Given the description of an element on the screen output the (x, y) to click on. 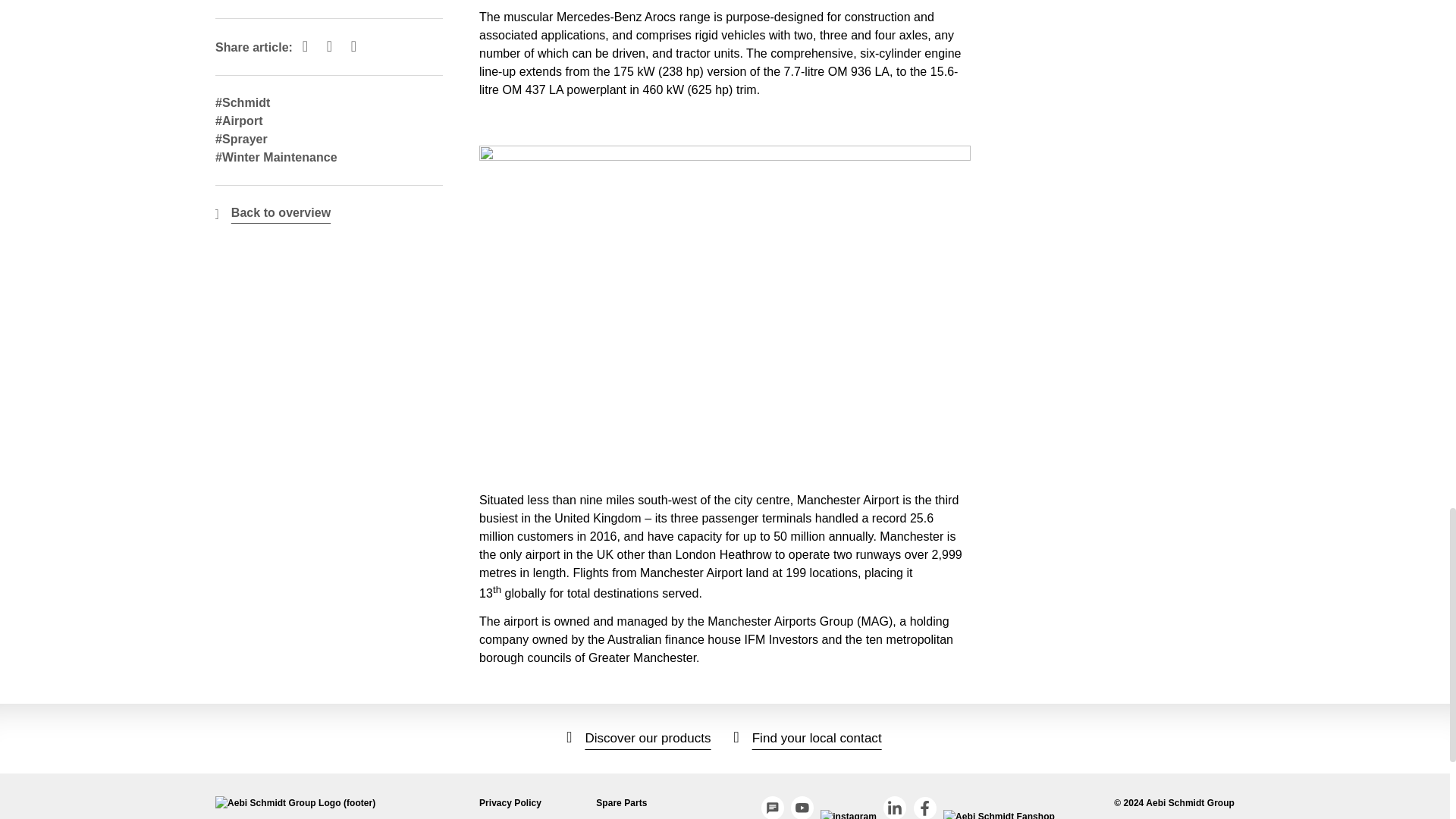
Discover our products (638, 738)
Find your local contact (808, 738)
